Given the description of an element on the screen output the (x, y) to click on. 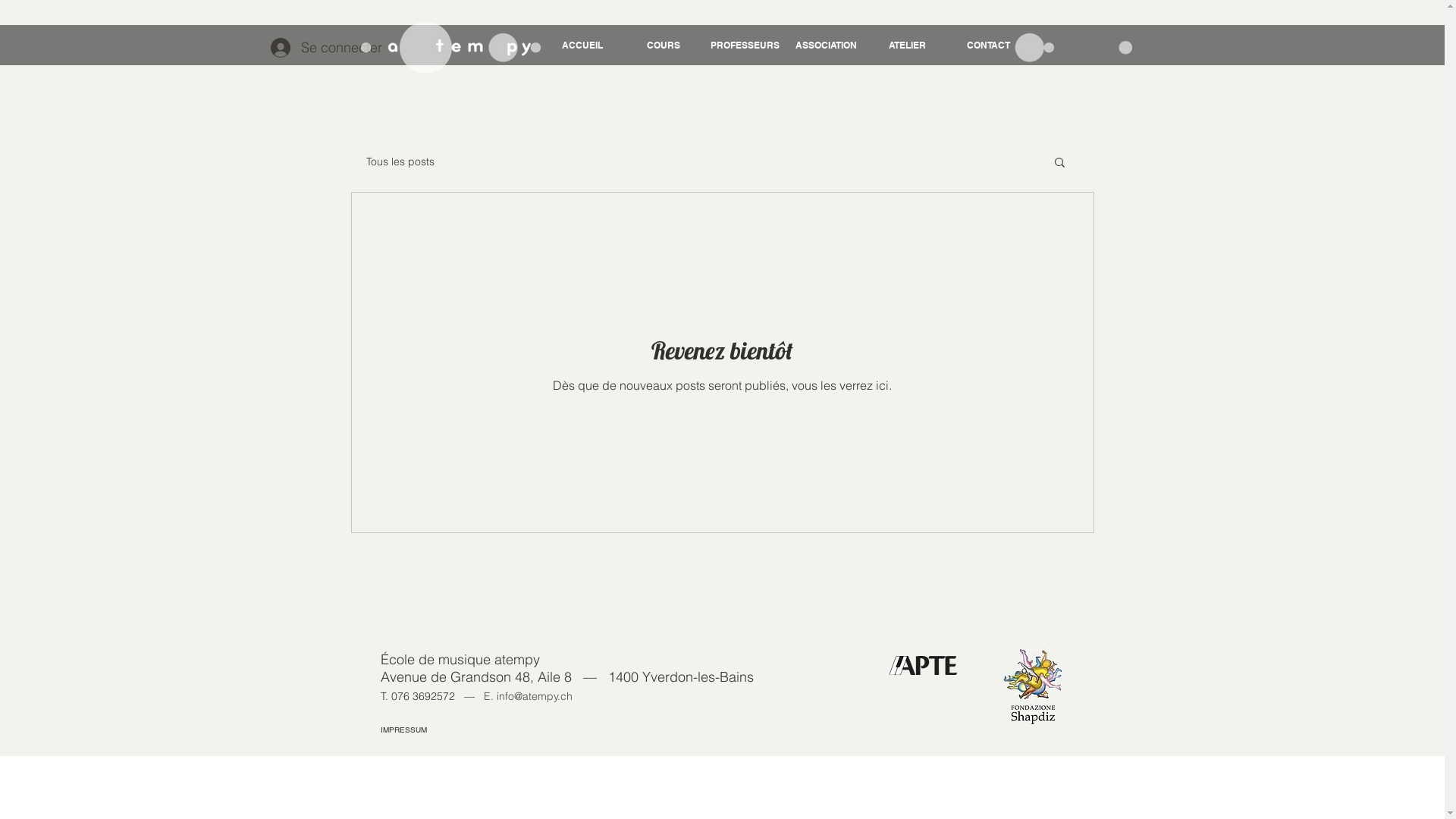
shaplogo medium-res.jpg Element type: hover (1033, 685)
ACCUEIL Element type: text (581, 38)
Se connecter Element type: text (304, 47)
IMPRESSUM Element type: text (403, 729)
ATELIER Element type: text (906, 38)
PROFESSEURS Element type: text (743, 38)
COURS Element type: text (663, 38)
E. info@atempy.ch Element type: text (527, 695)
Tous les posts Element type: text (399, 161)
ASSOCIATION Element type: text (825, 38)
CONTACT Element type: text (988, 38)
